Given the description of an element on the screen output the (x, y) to click on. 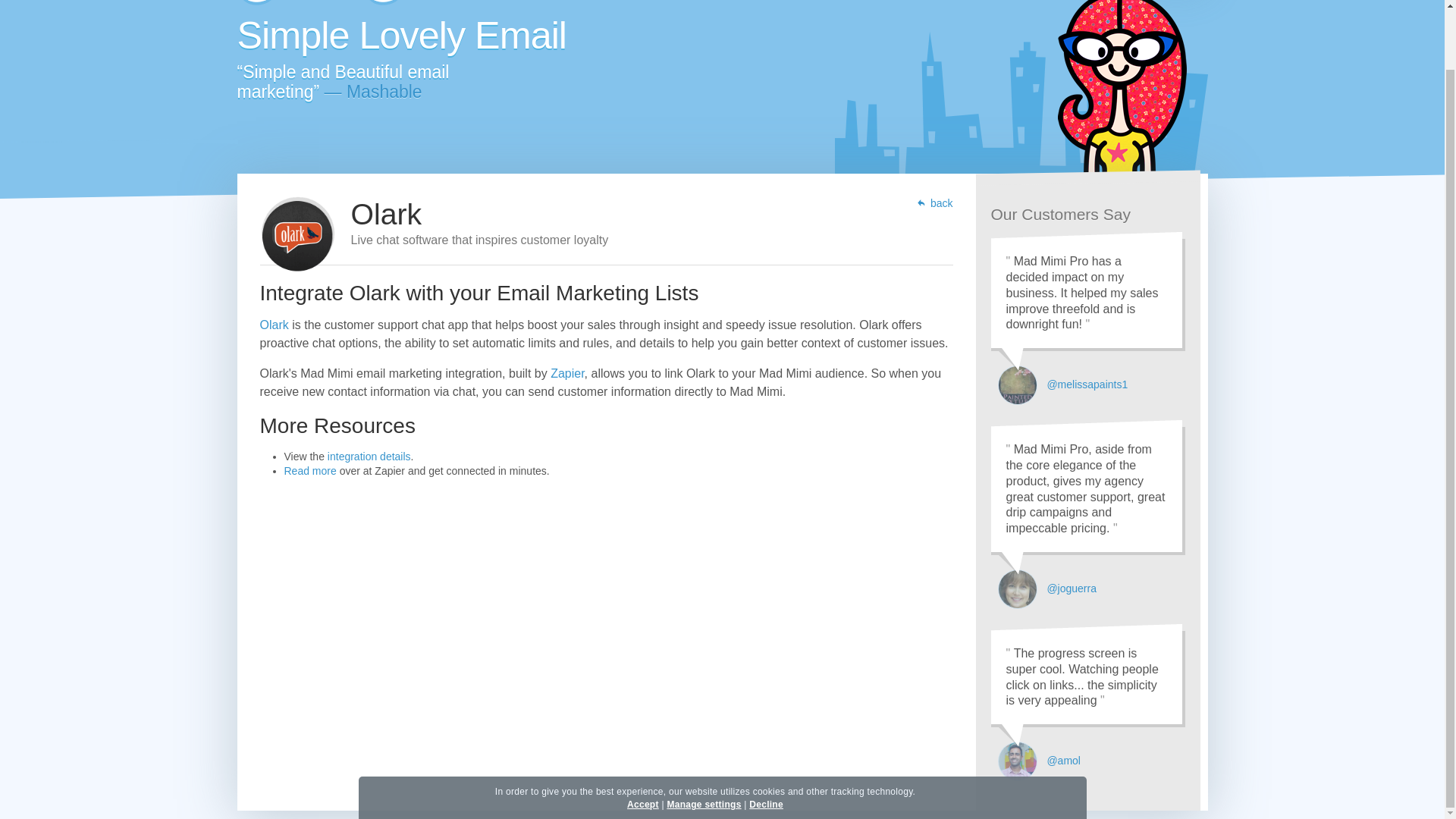
Manage settings (703, 739)
Olark (273, 324)
Decline (766, 739)
Mad Mimi Home (368, 3)
back (933, 203)
Mad Mimi (368, 3)
Read more (309, 470)
integration details (368, 456)
Zapier (566, 373)
Accept (643, 739)
